Given the description of an element on the screen output the (x, y) to click on. 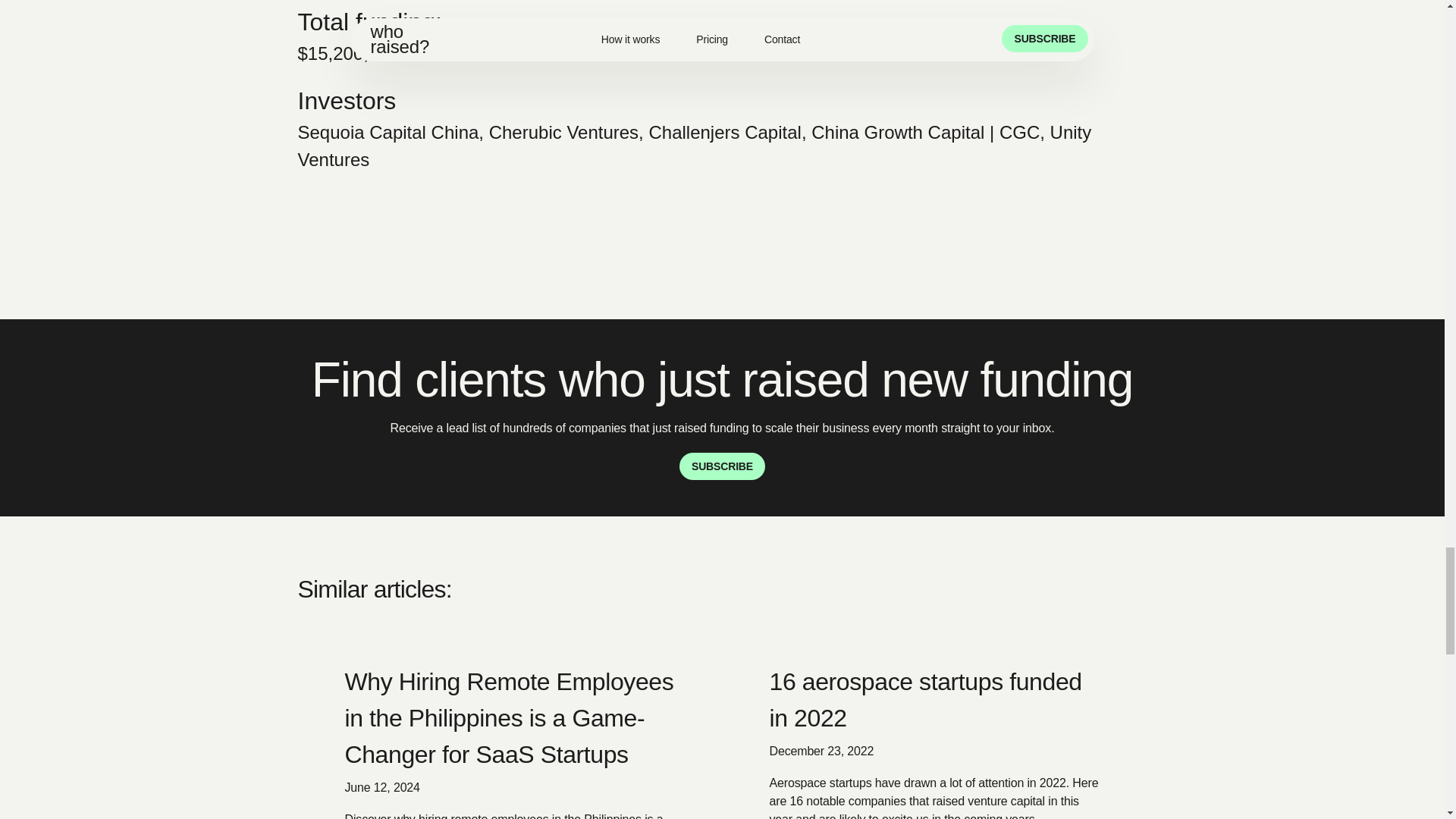
SUBSCRIBE (722, 465)
